Given the description of an element on the screen output the (x, y) to click on. 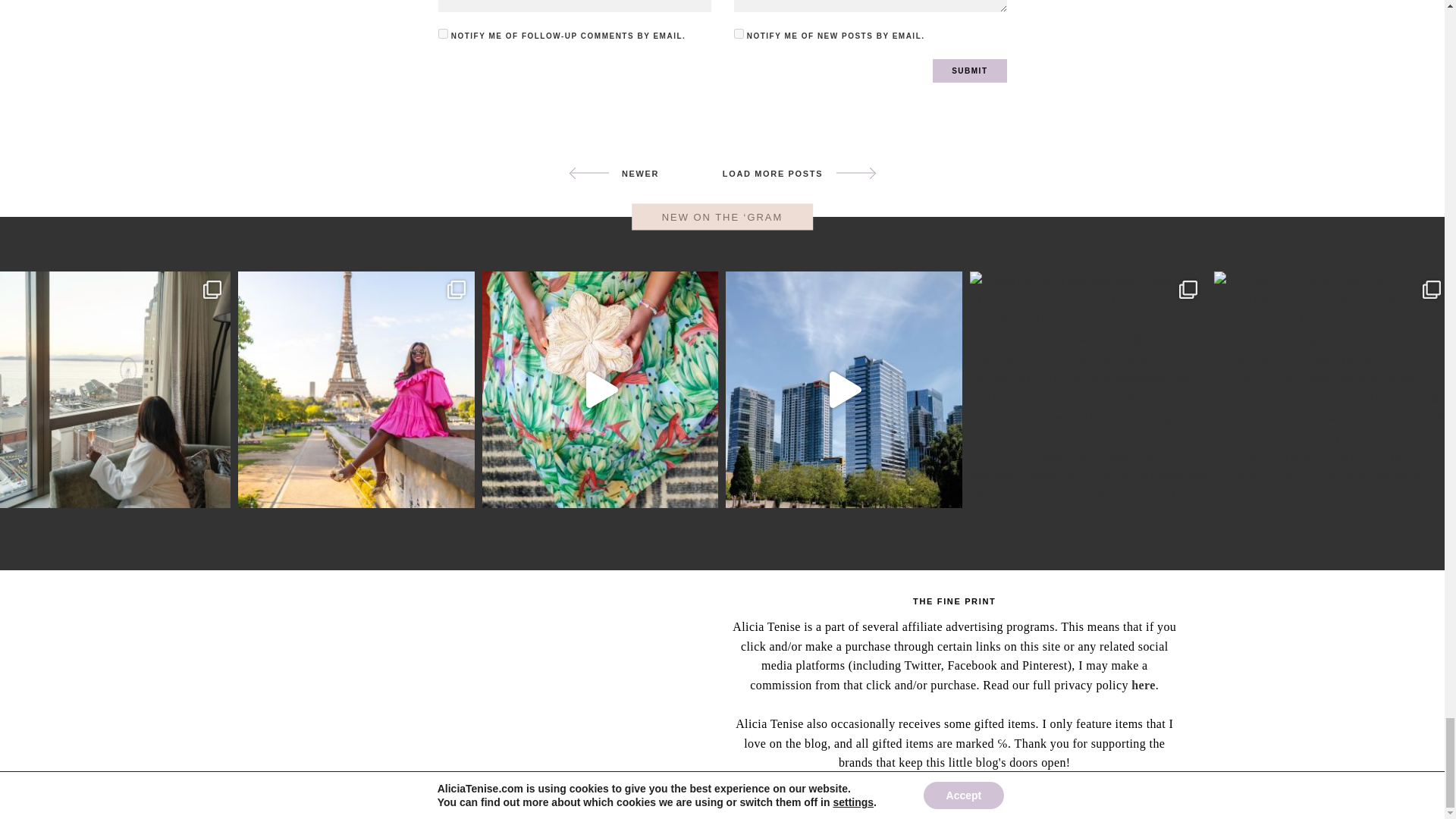
subscribe (738, 33)
subscribe (443, 33)
Submit (969, 70)
